Given the description of an element on the screen output the (x, y) to click on. 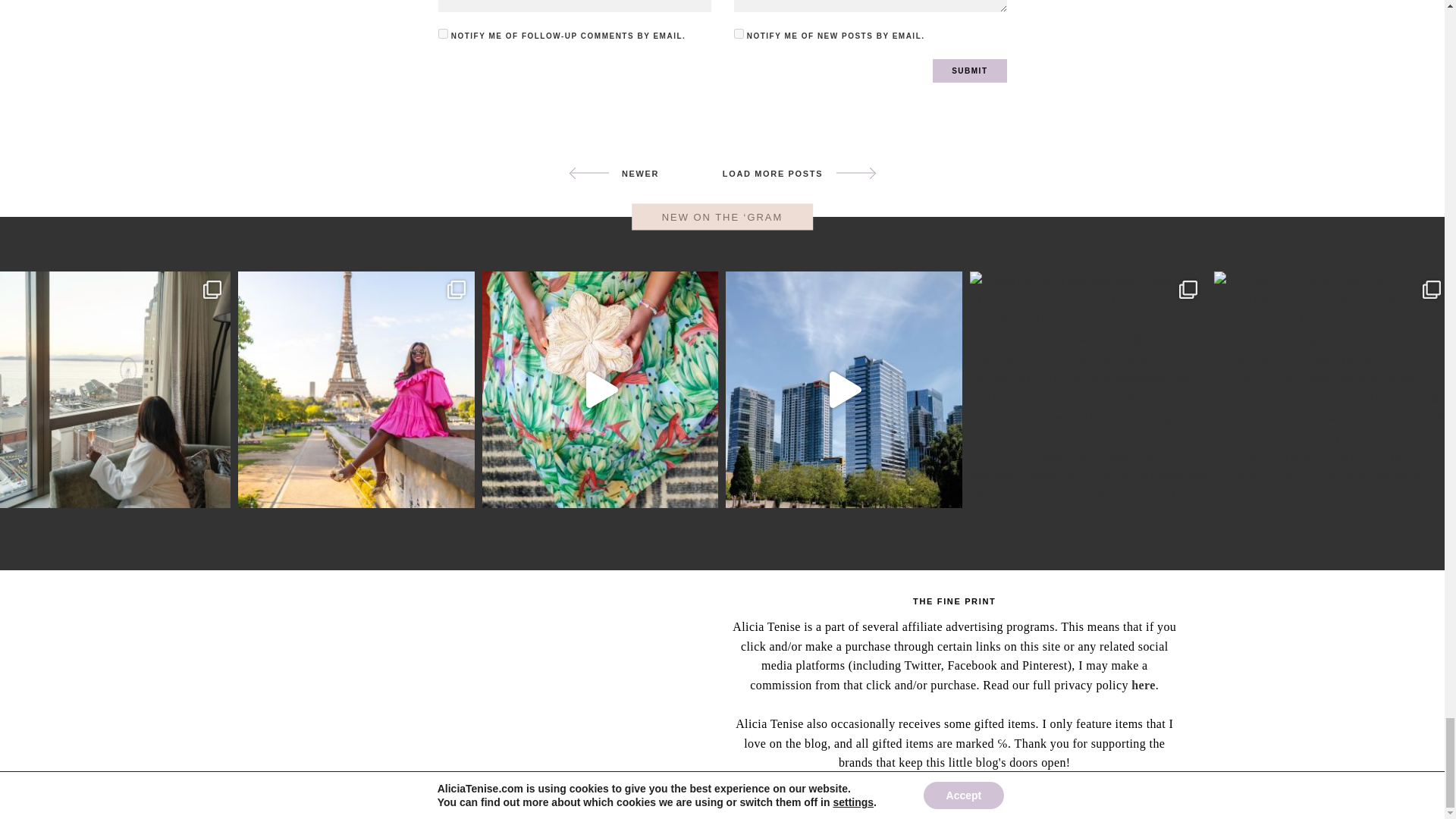
subscribe (738, 33)
subscribe (443, 33)
Submit (969, 70)
